Given the description of an element on the screen output the (x, y) to click on. 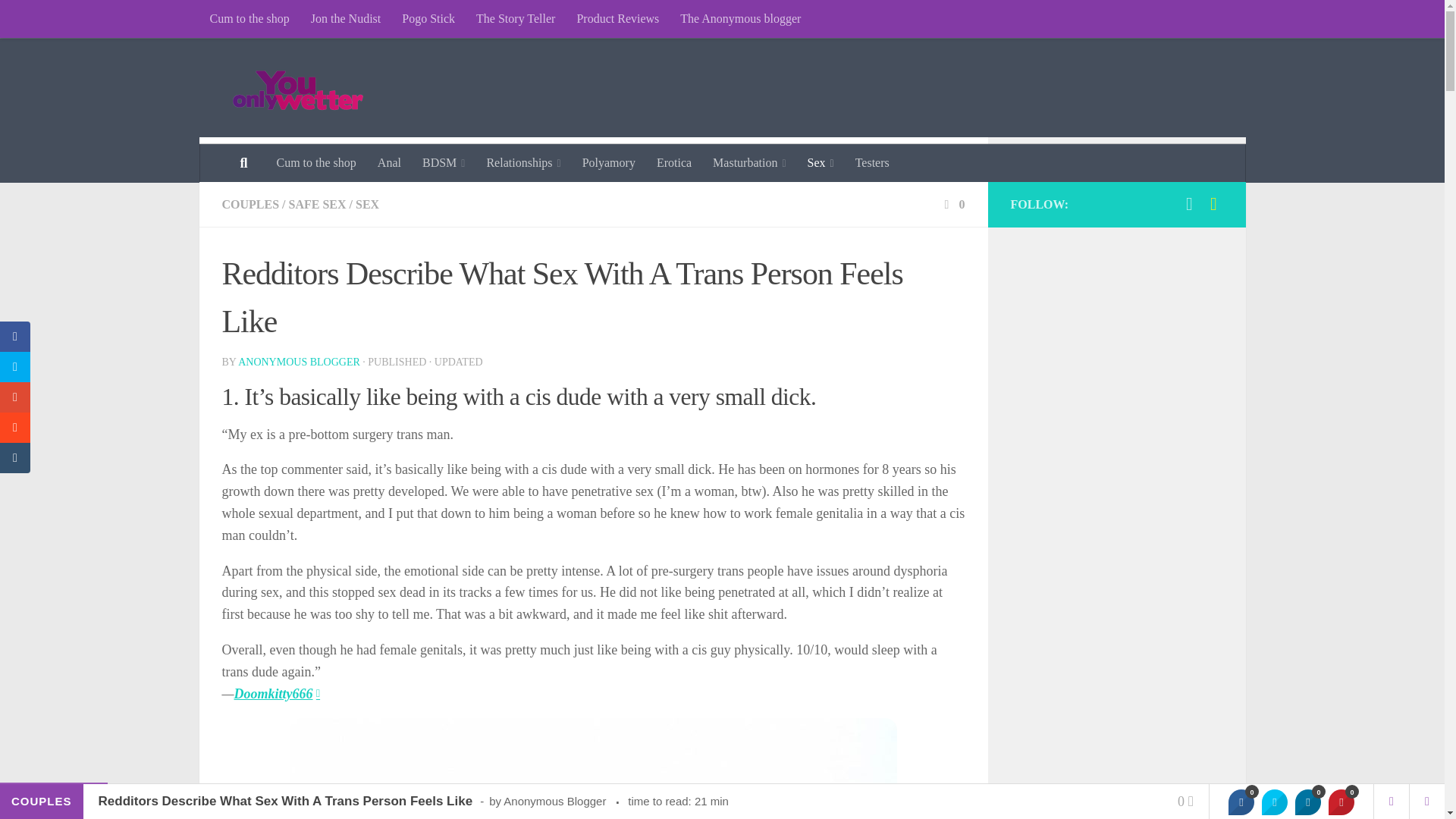
Cum to the shop (248, 18)
Product Reviews (617, 18)
Share on Facebook (1240, 801)
Pogo Stick (428, 18)
Follow us on Twitter (1188, 203)
BDSM (444, 162)
The Story Teller (515, 18)
Skip to content (59, 20)
The Anonymous blogger (739, 18)
Cum to the shop (315, 162)
Anal (389, 162)
Jon the Nudist (345, 18)
Posts by Anonymous Blogger (298, 361)
Follow us on Snapchat (1213, 203)
